Given the description of an element on the screen output the (x, y) to click on. 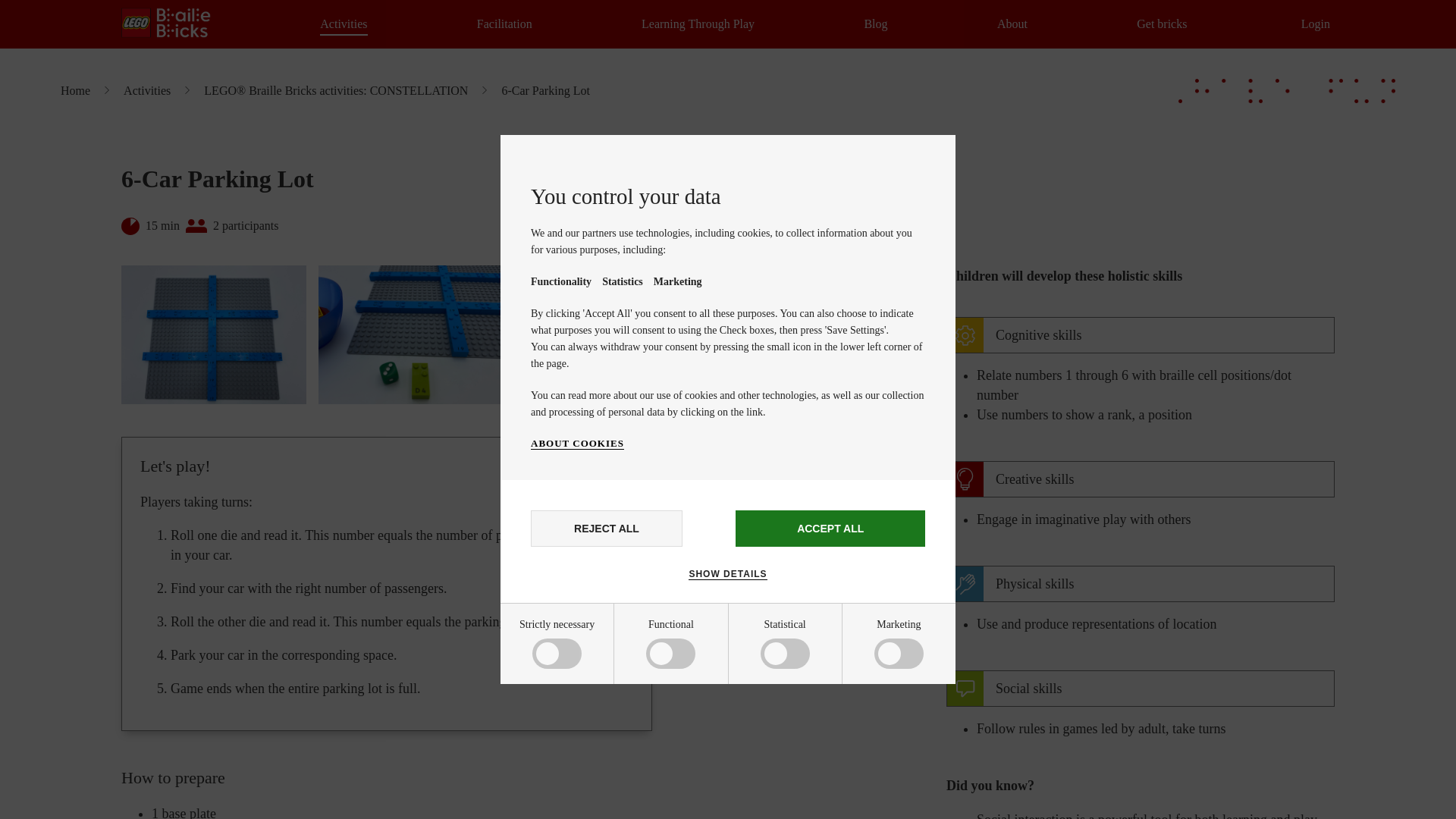
Facilitation (504, 24)
SHOW DETAILS (727, 573)
Blog (874, 24)
Statistical (585, 766)
REJECT ALL (606, 528)
ABOUT COOKIES (577, 443)
Activities (343, 24)
ACCEPT ALL (829, 528)
Functional (585, 714)
Learning Through Play (698, 24)
Marketing (585, 809)
About (1012, 24)
Strictly necessary (585, 657)
